Given the description of an element on the screen output the (x, y) to click on. 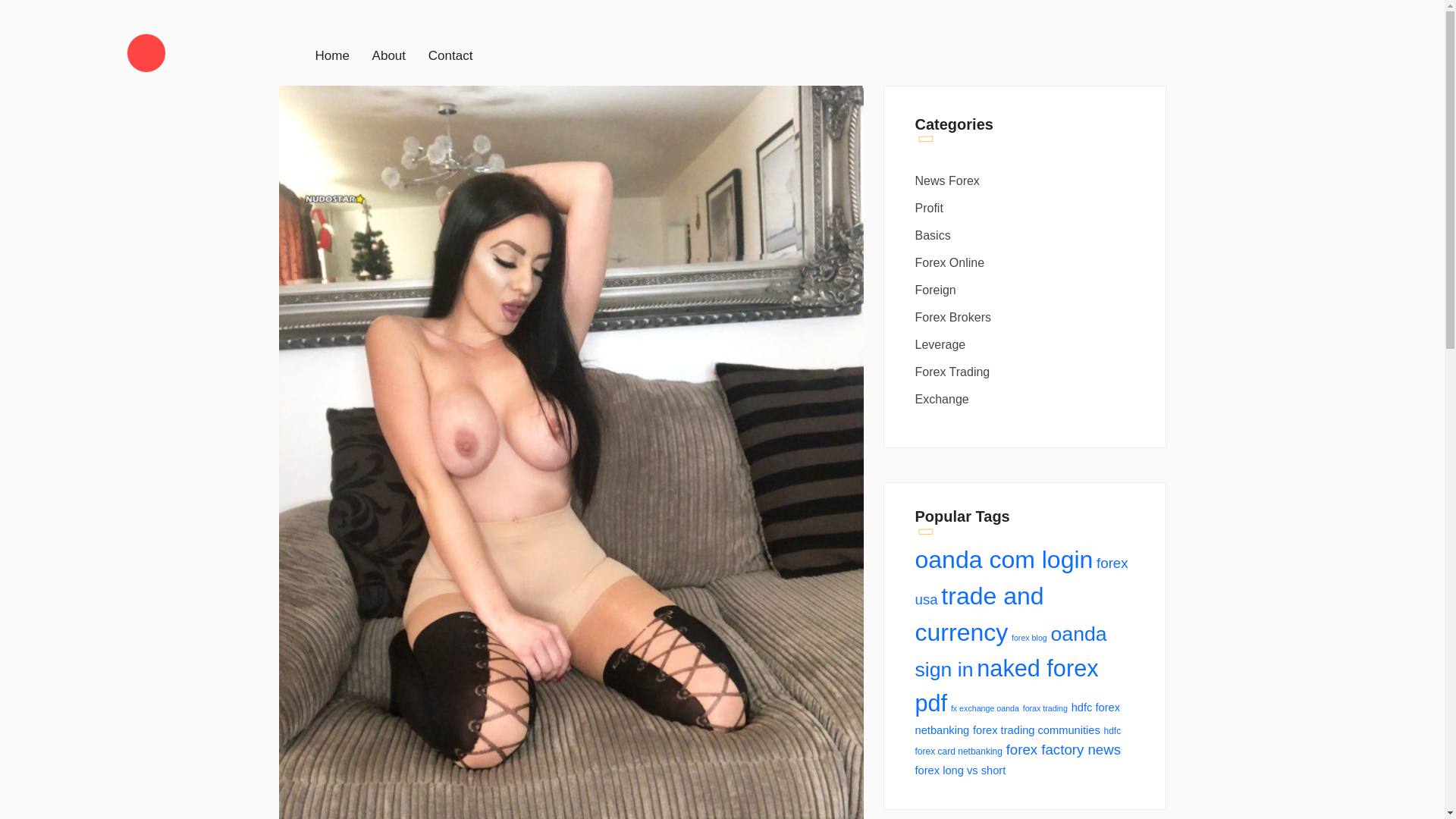
Basics (1026, 235)
Home (332, 55)
Forex Brokers (1026, 317)
Profit (1026, 207)
Contact (450, 55)
Forex Online (1026, 262)
About (389, 55)
Leverage (1026, 344)
Foreign (1026, 289)
News Forex (1026, 180)
